Given the description of an element on the screen output the (x, y) to click on. 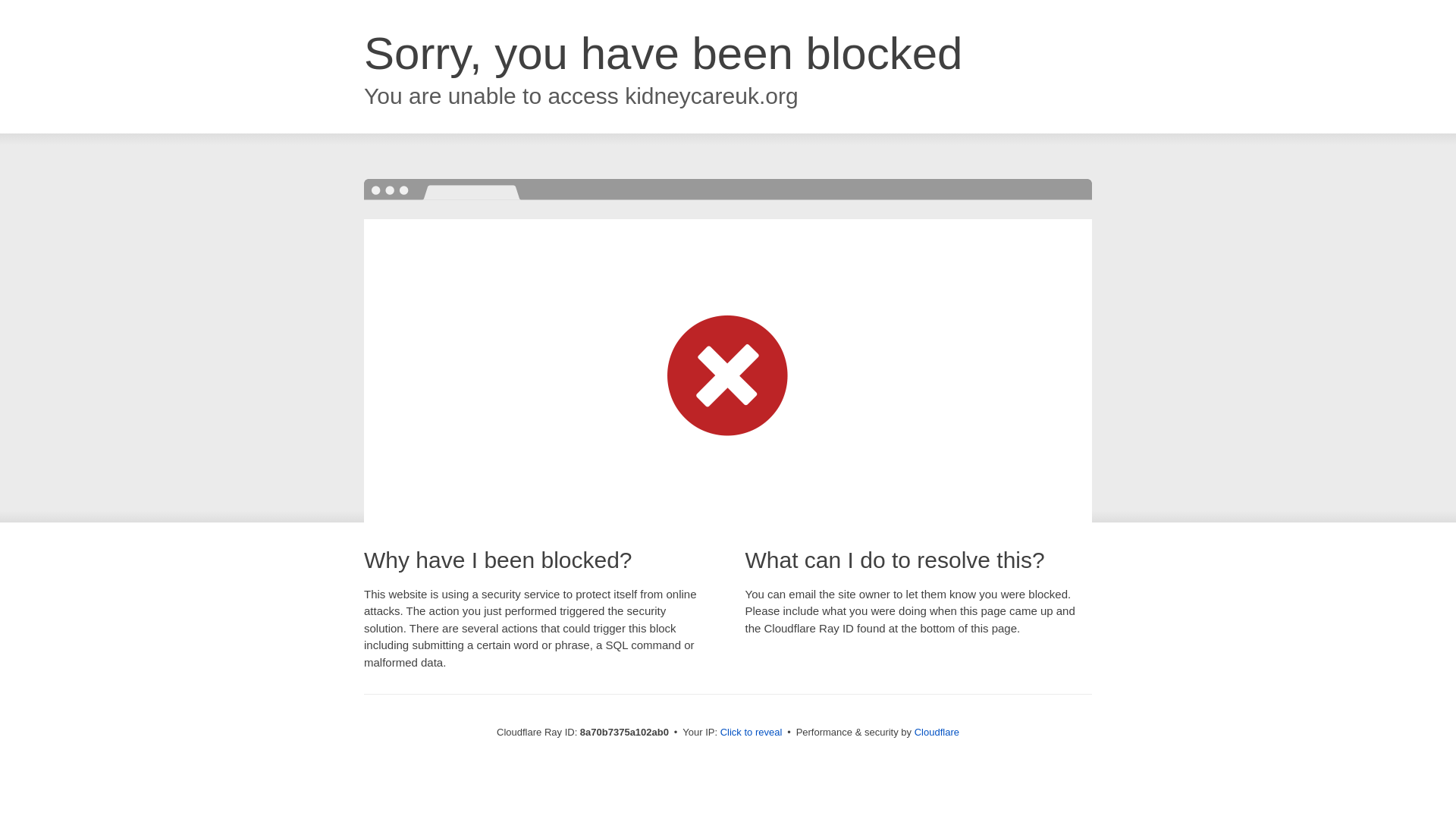
Cloudflare (936, 731)
Click to reveal (751, 732)
